Given the description of an element on the screen output the (x, y) to click on. 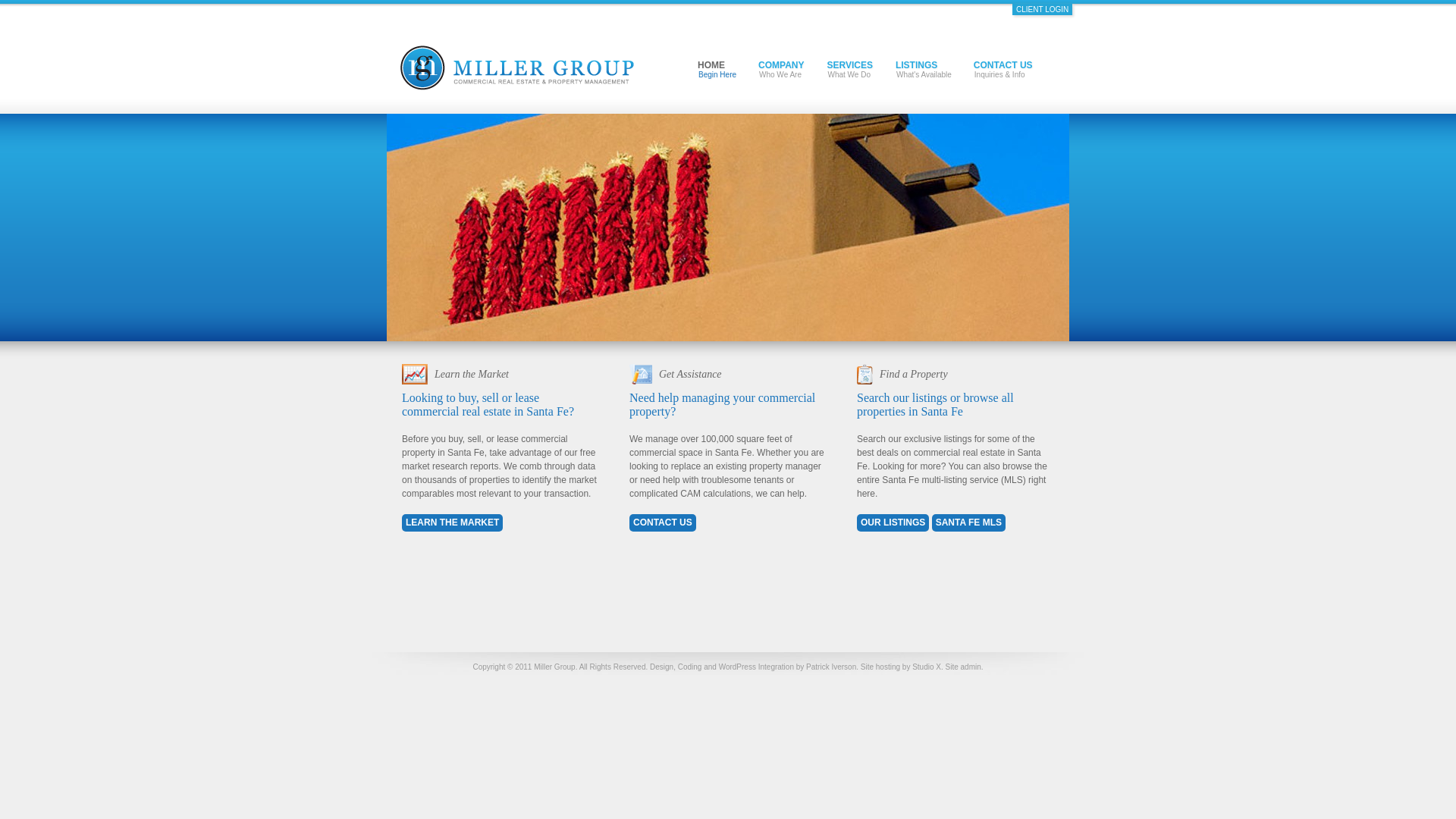
What we do (849, 69)
Begin here (716, 69)
Site hosting by Studio X (900, 666)
Need help managing your commercial property? (721, 404)
LEARN THE MARKET (451, 522)
Design, Coding and WordPress Integration by Patrick Iverson (752, 666)
JH001906 (849, 69)
OUR LISTINGS (727, 56)
Search our listings or browse all properties in Santa Fe (892, 522)
SANTA FE MLS (935, 404)
